Given the description of an element on the screen output the (x, y) to click on. 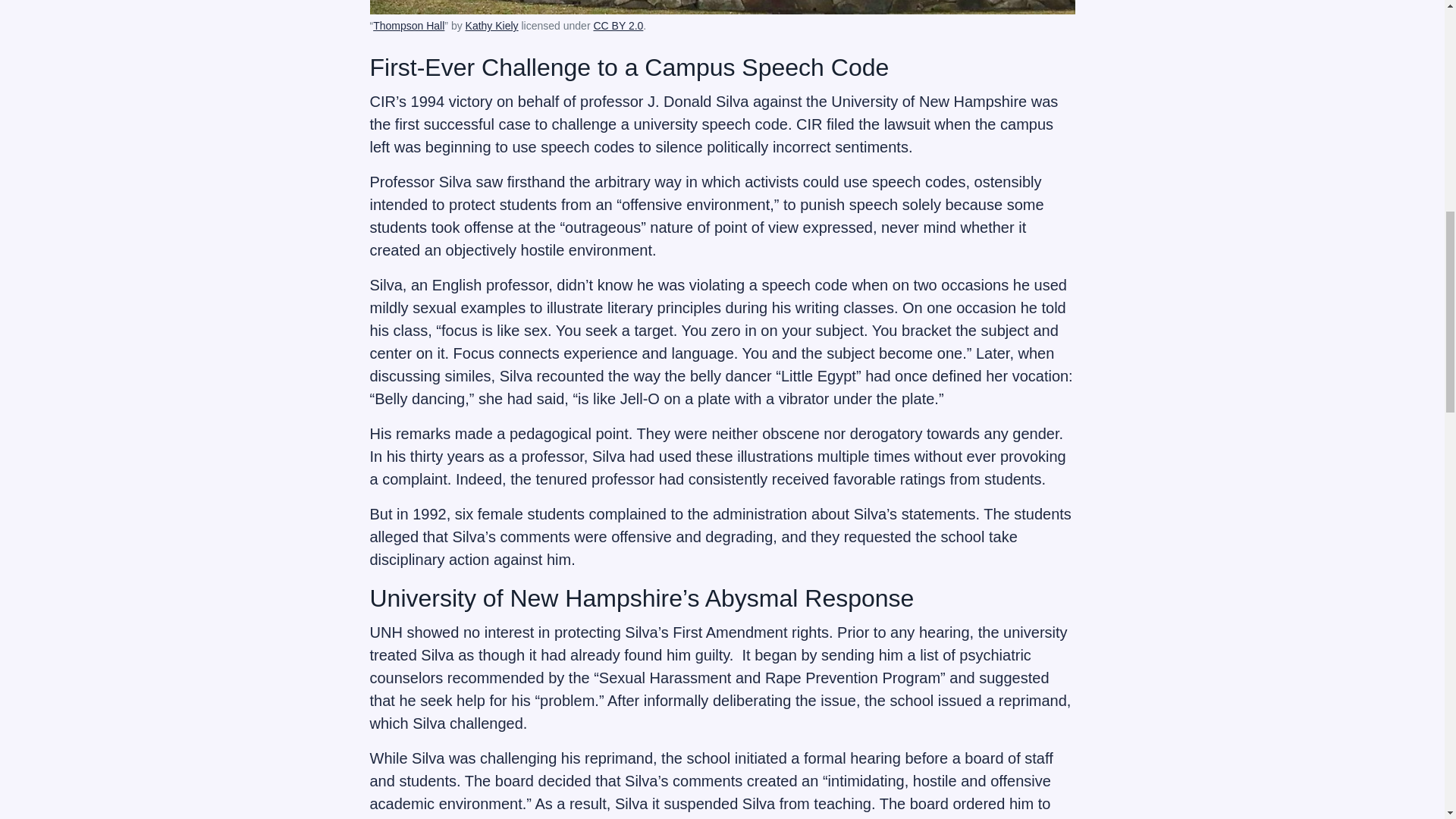
CC BY 2.0 (617, 25)
Kathy Kiely (491, 25)
Thompson Hall (408, 25)
